Given the description of an element on the screen output the (x, y) to click on. 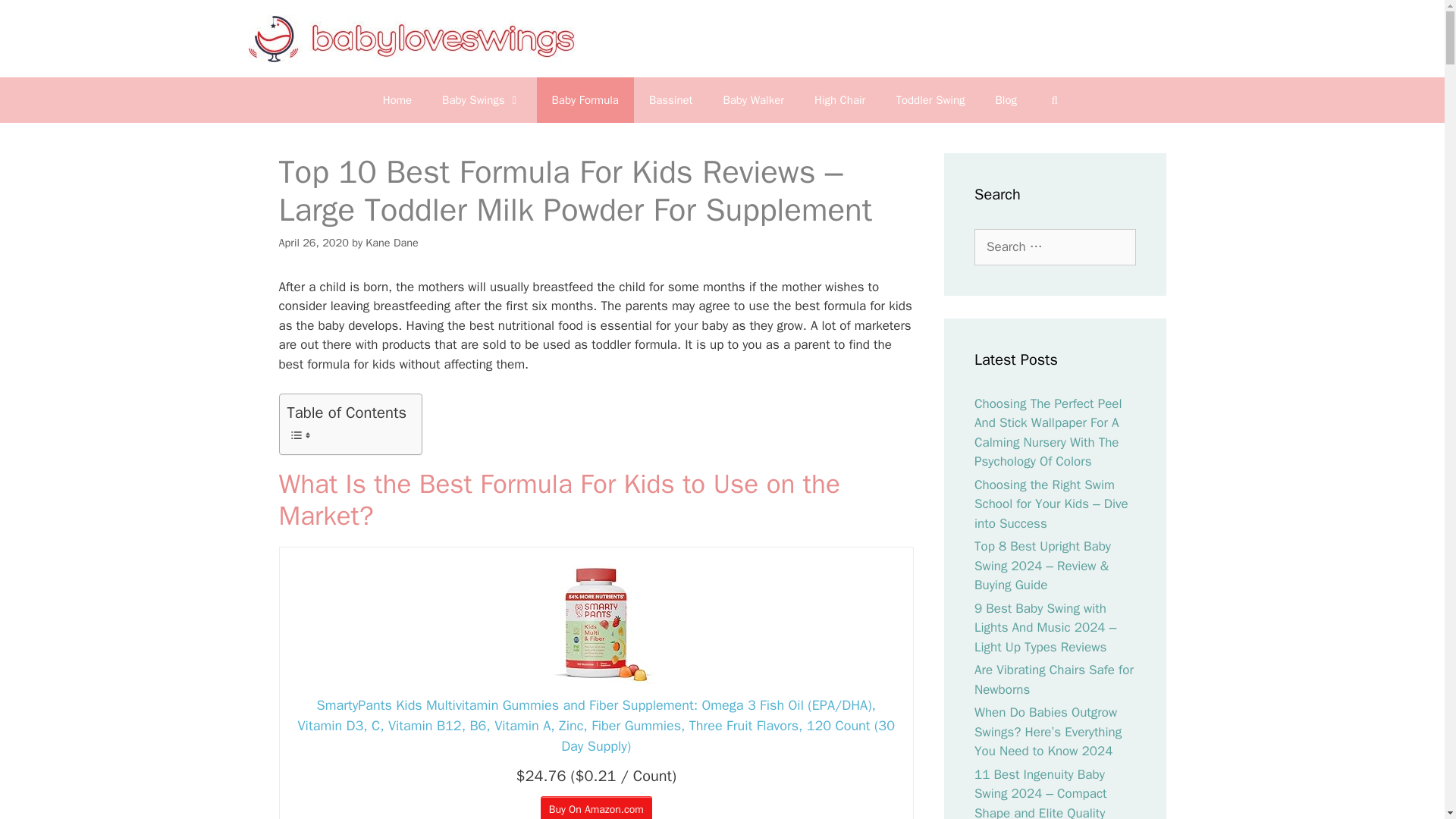
Toddler Swing (929, 99)
Baby Formula (585, 99)
Home (397, 99)
Kane Dane (391, 242)
High Chair (839, 99)
Baby Walker (753, 99)
View all posts by Kane Dane (391, 242)
Bassinet (670, 99)
Blog (1004, 99)
Baby Swings (480, 99)
